Given the description of an element on the screen output the (x, y) to click on. 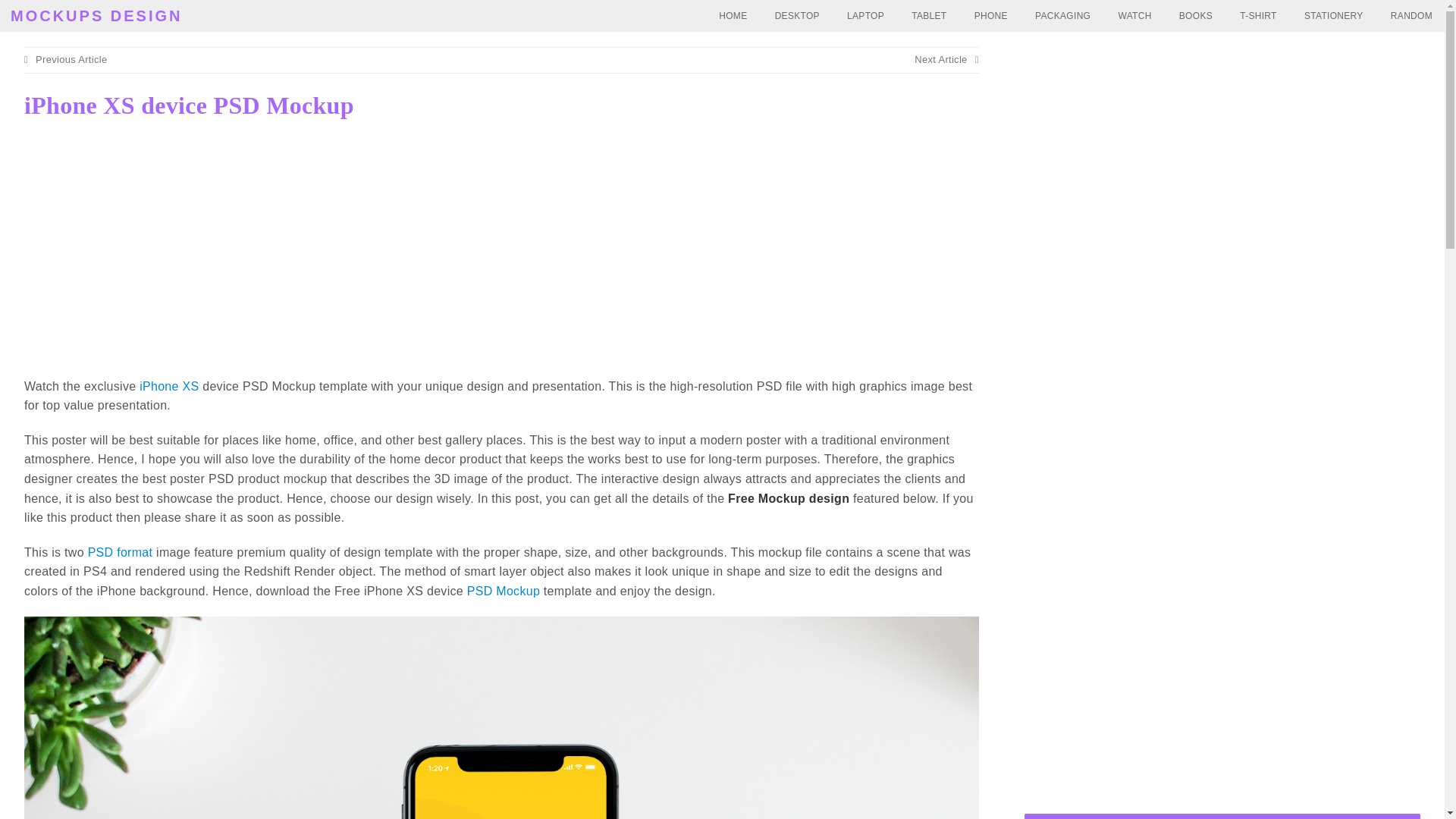
HOME (732, 15)
iPhone XS (168, 386)
mockups design (96, 15)
STATIONERY (1333, 15)
BOOKS (1195, 15)
Next Article (946, 59)
LAPTOP (865, 15)
MOCKUPS DESIGN (96, 15)
PSD Mockup (503, 590)
